Given the description of an element on the screen output the (x, y) to click on. 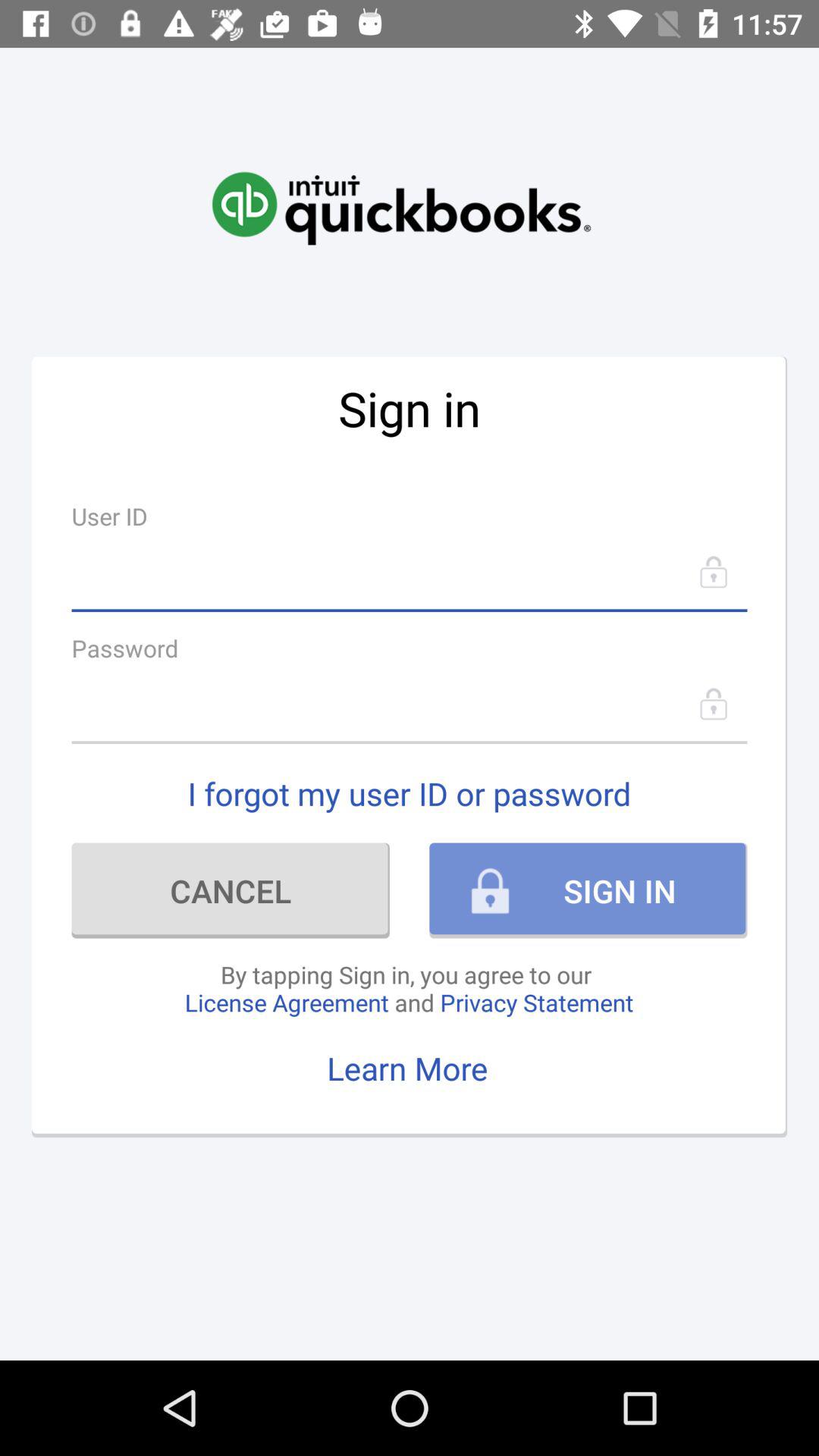
turn off the item above i forgot my item (409, 703)
